Given the description of an element on the screen output the (x, y) to click on. 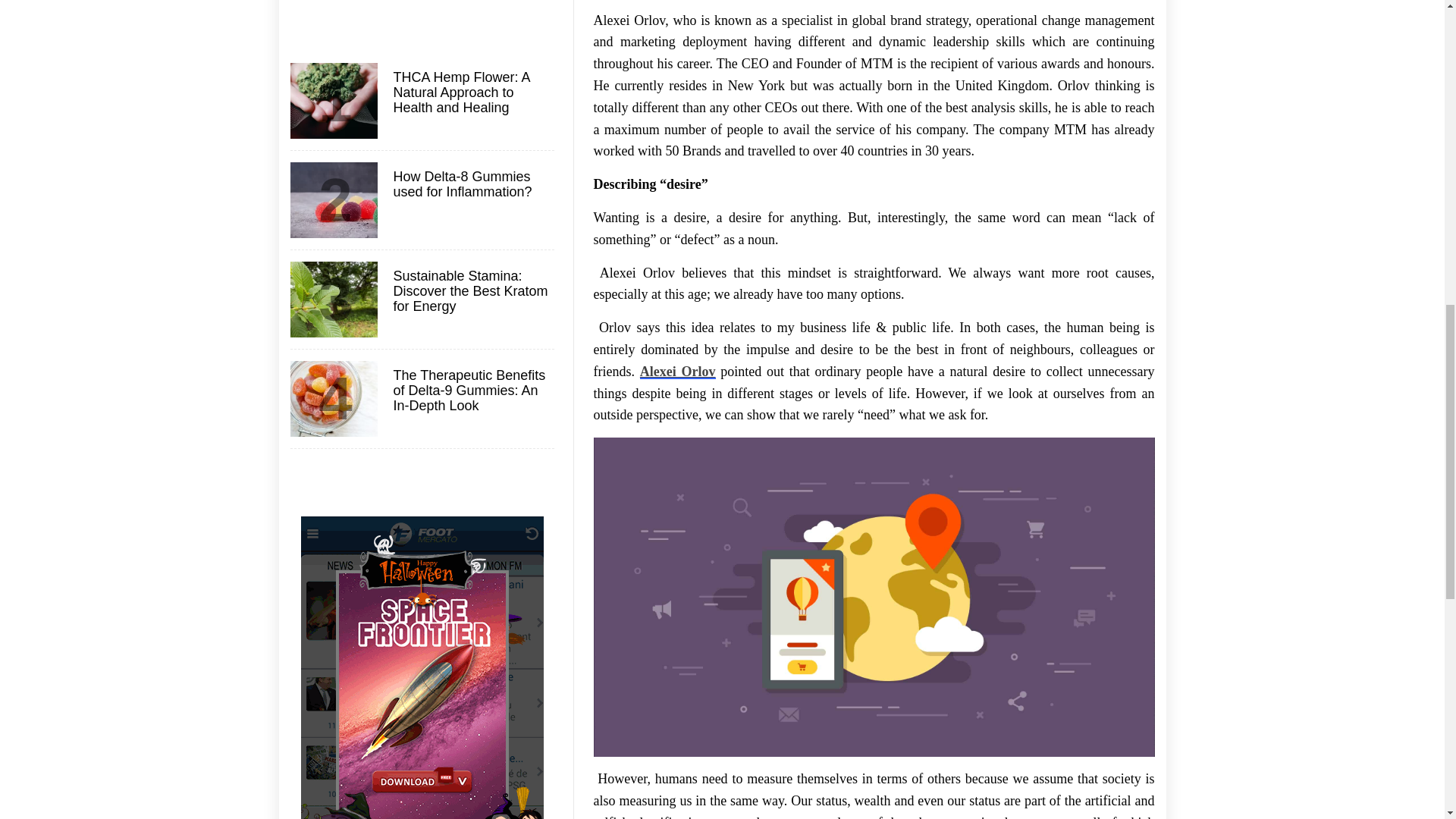
Sustainable Stamina: Discover the Best Kratom for Energy (471, 291)
How Delta-8 Gummies used for Inflammation? (471, 184)
Alexei Orlov (678, 371)
THCA Hemp Flower: A Natural Approach to Health and Healing (471, 92)
